Given the description of an element on the screen output the (x, y) to click on. 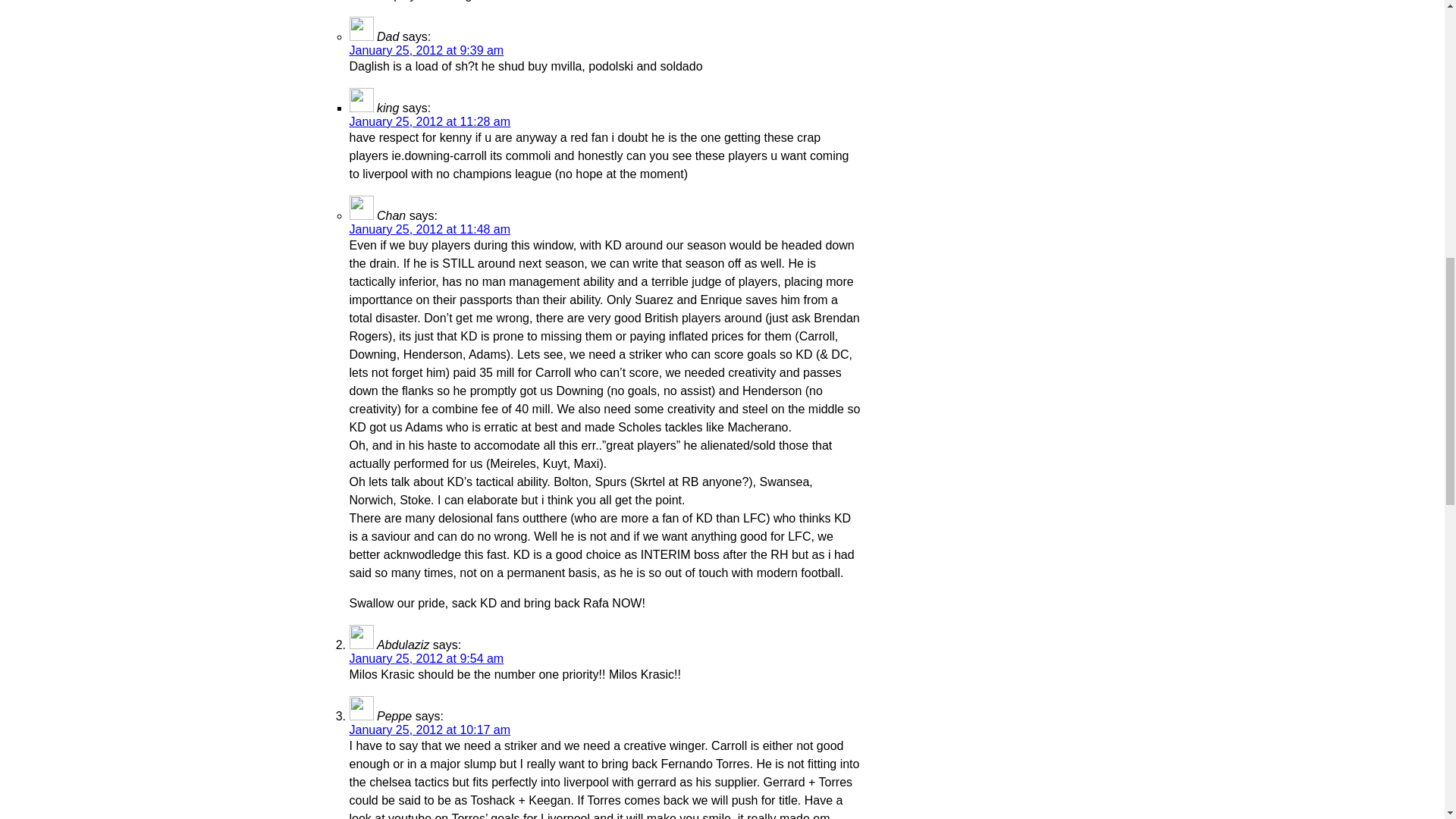
January 25, 2012 at 11:48 am (430, 228)
January 25, 2012 at 11:28 am (430, 121)
January 25, 2012 at 10:17 am (430, 729)
January 25, 2012 at 9:39 am (426, 50)
January 25, 2012 at 9:54 am (426, 658)
